Given the description of an element on the screen output the (x, y) to click on. 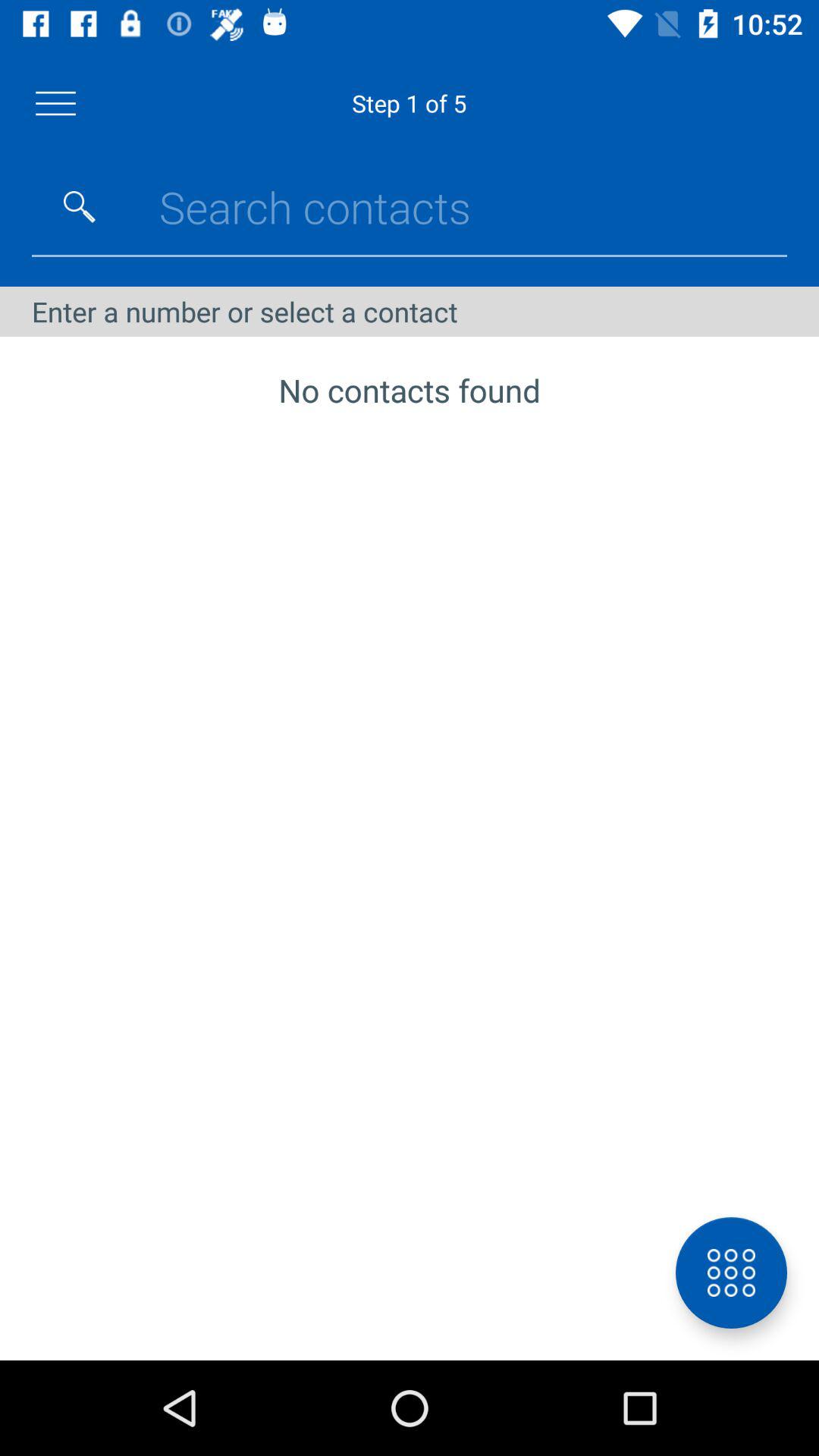
select the item at the bottom right corner (731, 1272)
